Given the description of an element on the screen output the (x, y) to click on. 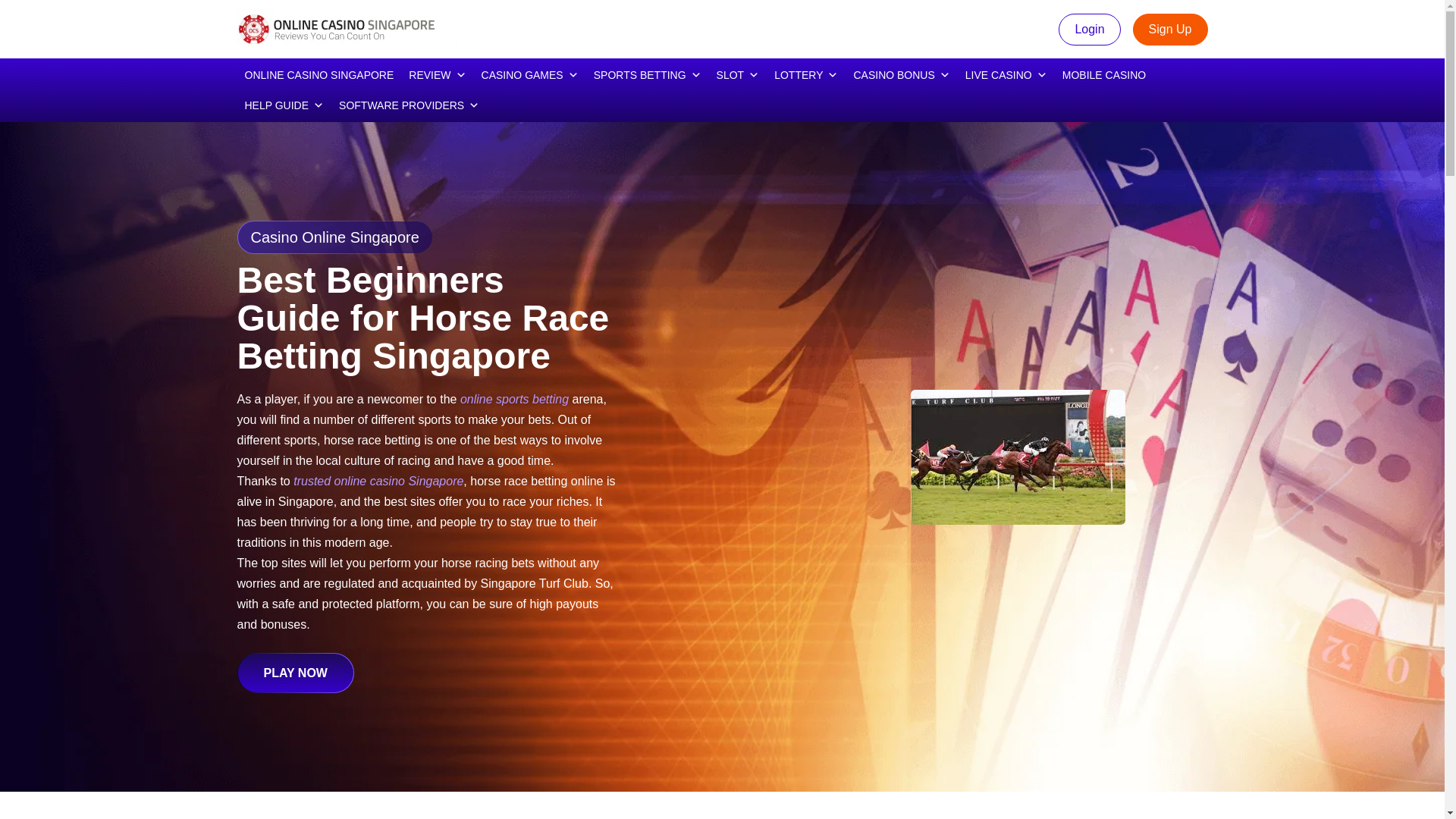
REVIEW (437, 74)
ONLINE CASINO SINGAPORE (318, 74)
Login (1088, 29)
Sign Up (1170, 29)
